Given the description of an element on the screen output the (x, y) to click on. 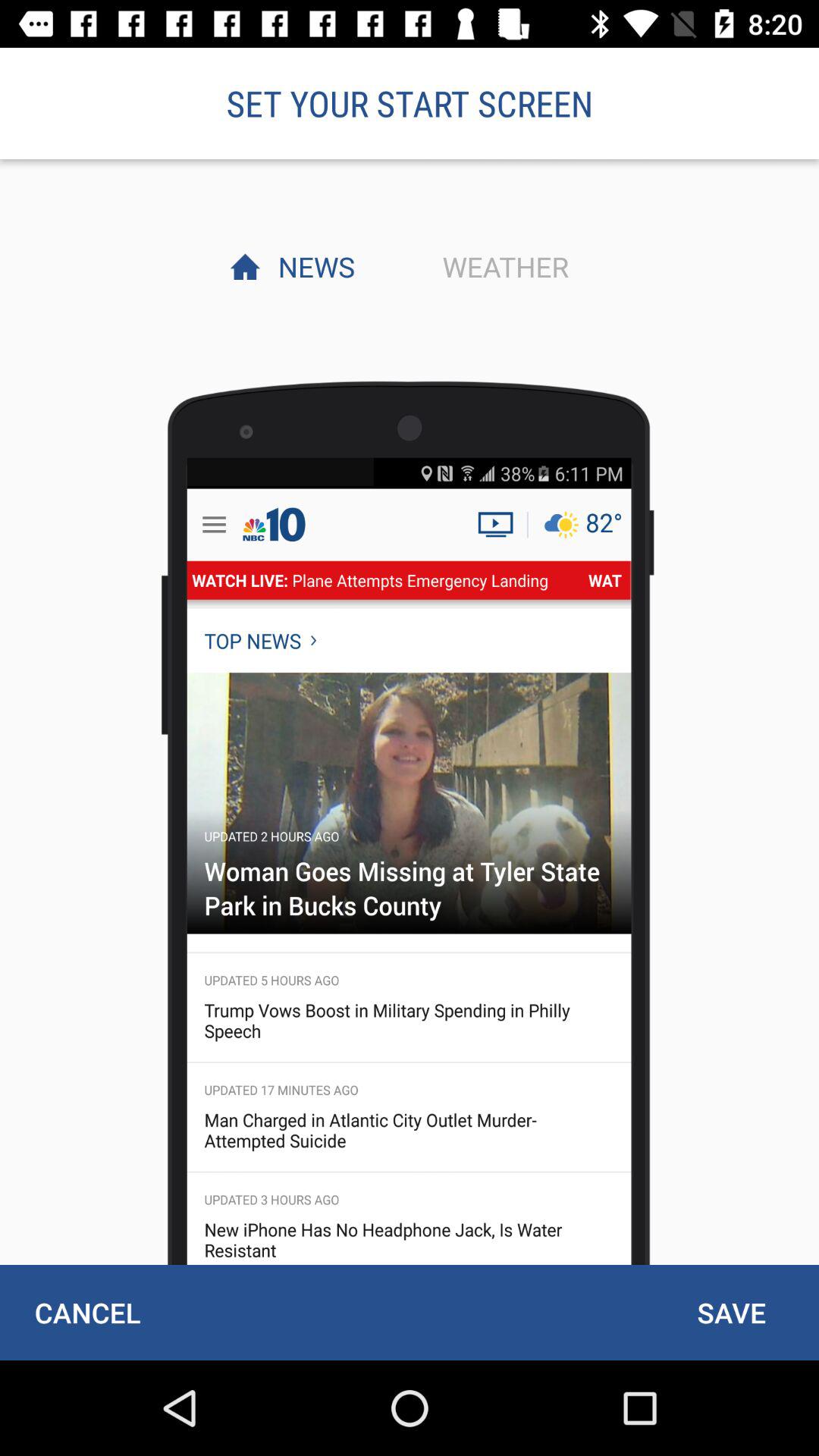
tap item below set your start icon (501, 266)
